Given the description of an element on the screen output the (x, y) to click on. 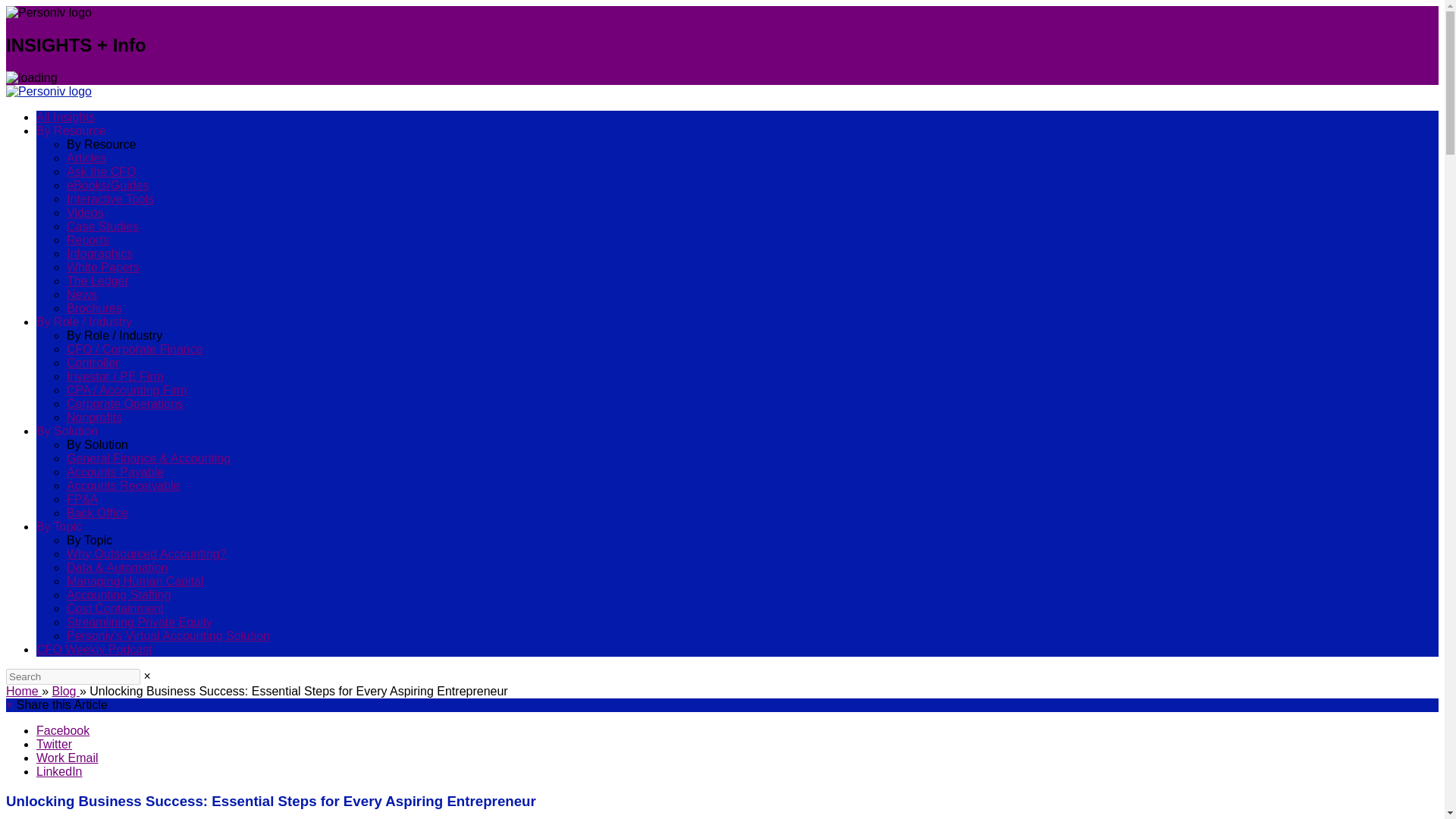
Nonprofits (94, 417)
By Solution (66, 431)
Case Studies (102, 226)
Personiv's Virtual Accounting Solution (167, 635)
Infographics (99, 253)
Accounting Staffing (118, 594)
Brochures (94, 308)
By Resource (71, 130)
Personiv (48, 91)
News (81, 294)
The Ledger (97, 280)
Accounts Payable (114, 472)
Accounts Receivable (122, 485)
CFO Weekly Podcast (94, 649)
Articles (86, 157)
